Given the description of an element on the screen output the (x, y) to click on. 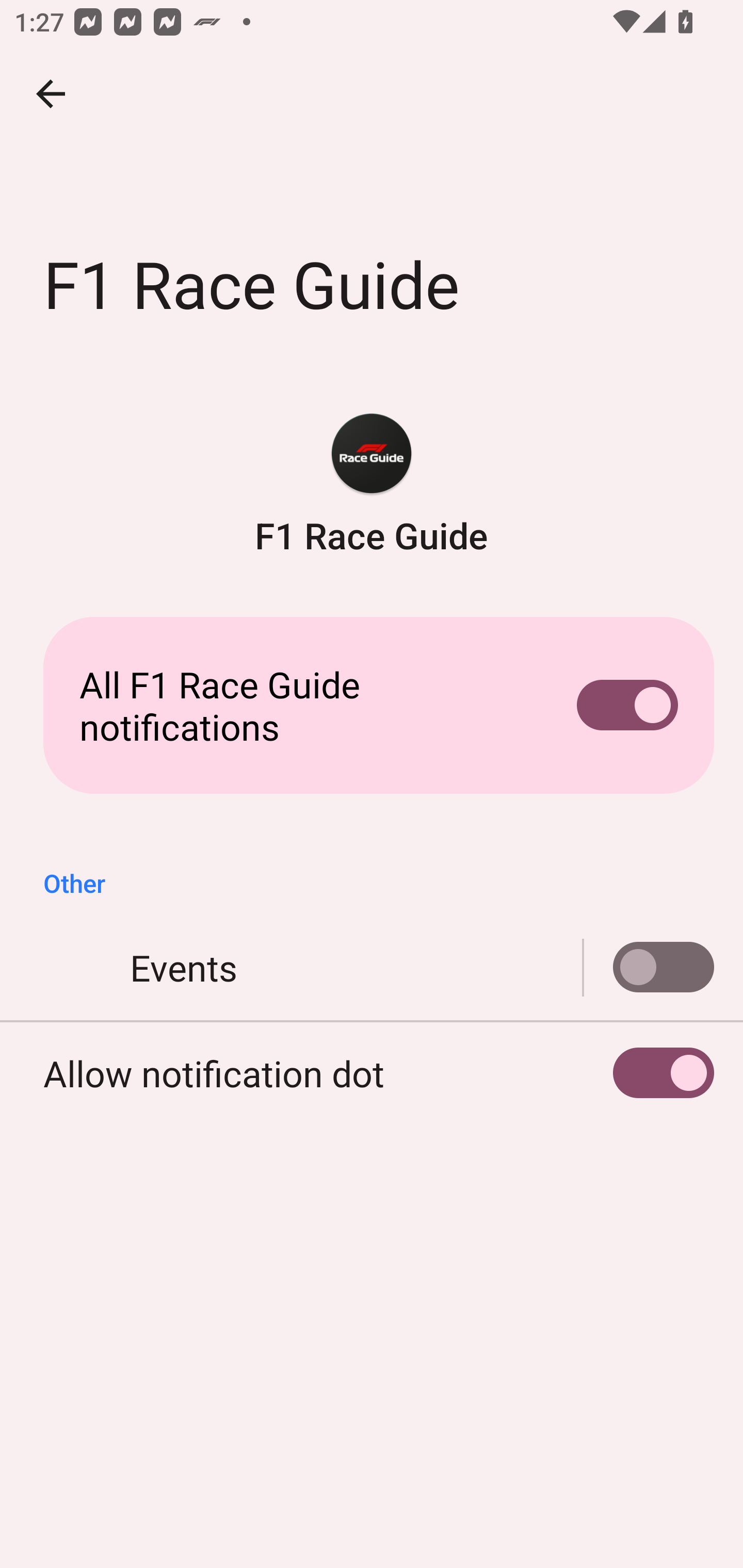
Navigate up (50, 93)
F1 Race Guide (371, 484)
All F1 Race Guide notifications (371, 705)
Events (371, 967)
Events (648, 967)
Allow notification dot (371, 1072)
